Given the description of an element on the screen output the (x, y) to click on. 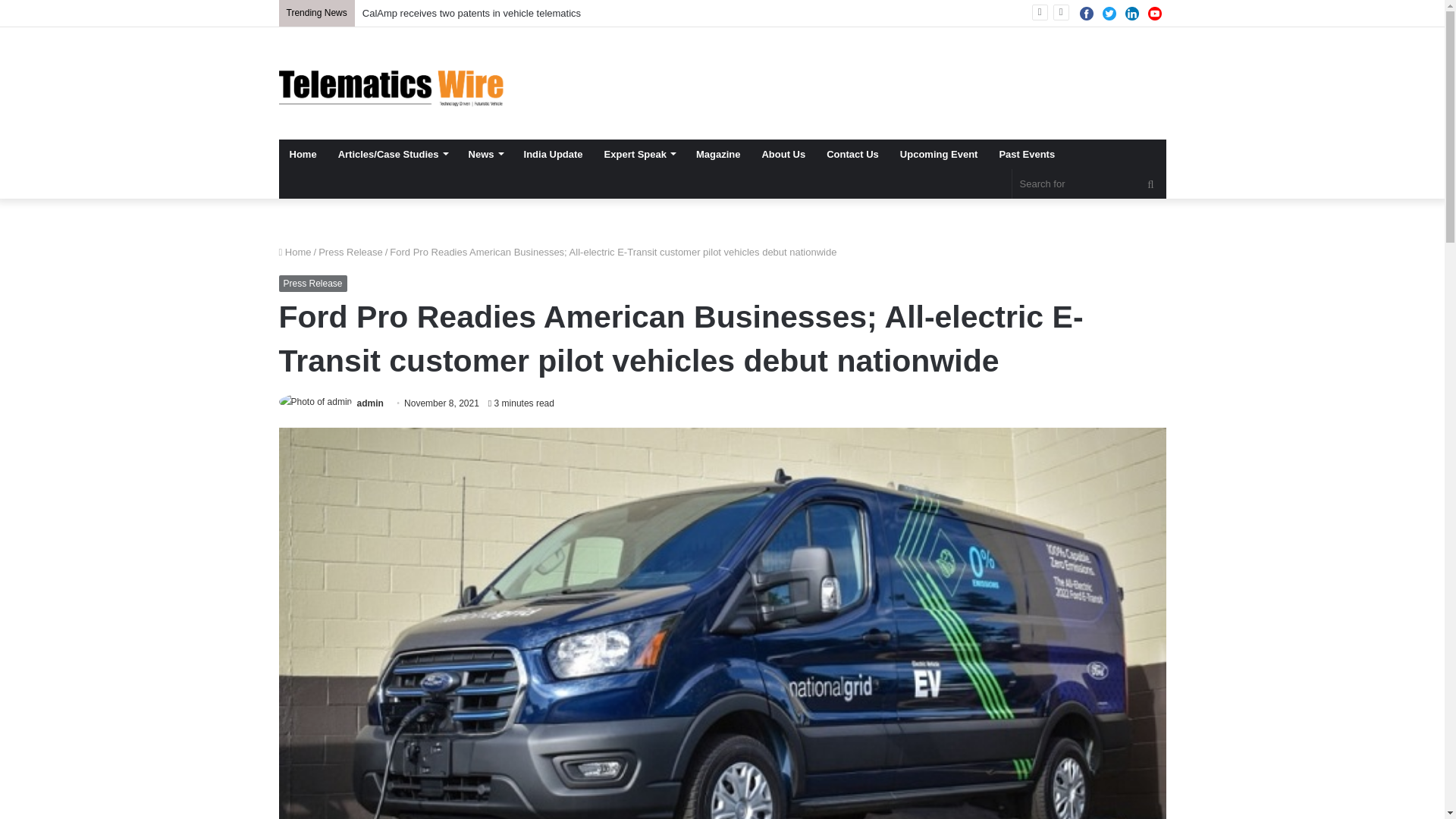
Past Events (1026, 153)
Contact Us (852, 153)
About Us (783, 153)
Magazine (718, 153)
Expert Speak (639, 153)
Upcoming Event (938, 153)
Telematics Wire (392, 82)
News (485, 153)
Home (303, 153)
admin (370, 403)
CalAmp receives two patents in vehicle telematics (471, 12)
Search for (1088, 183)
India Update (553, 153)
